Given the description of an element on the screen output the (x, y) to click on. 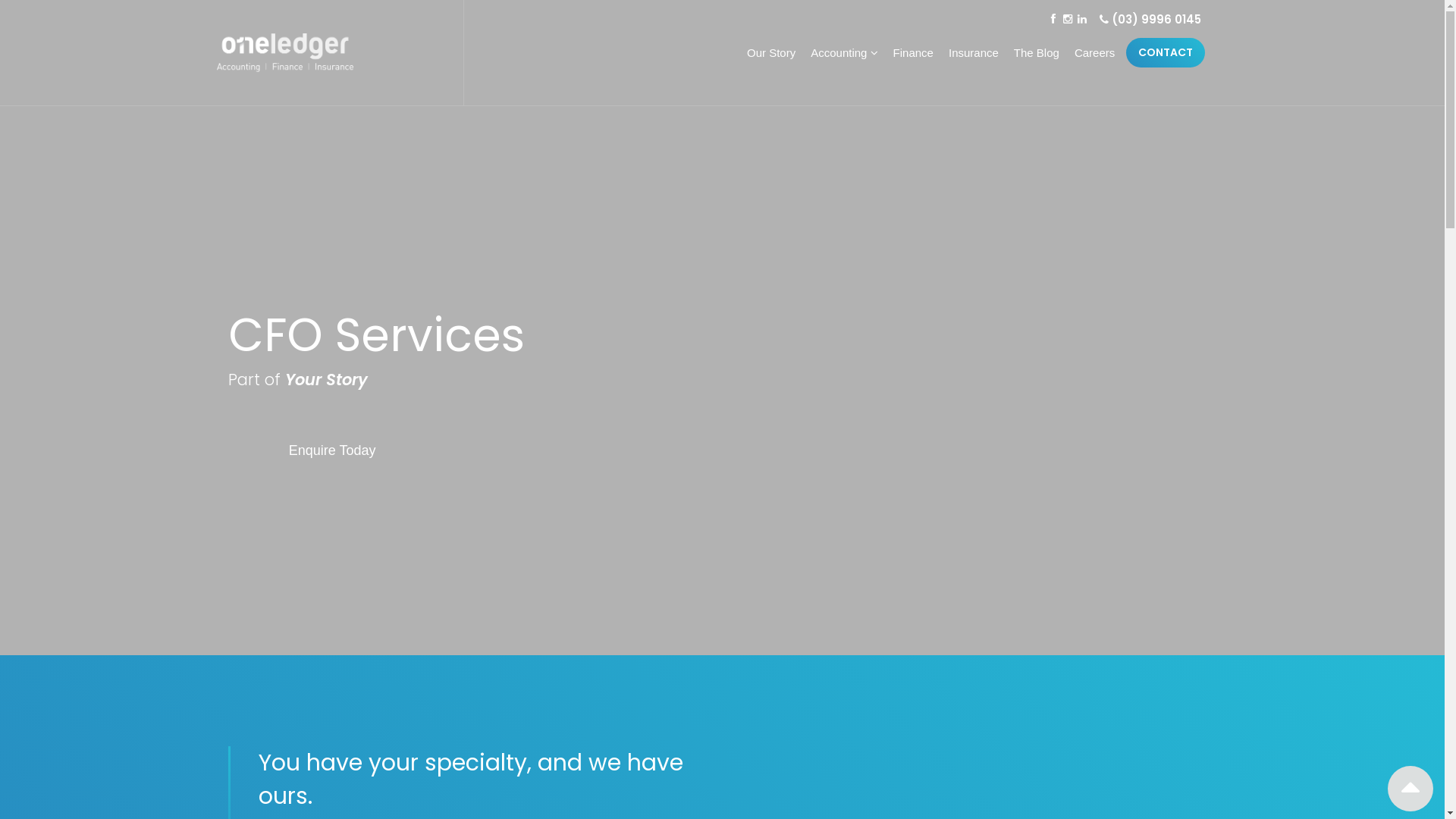
The Blog Element type: text (1032, 52)
Careers Element type: text (1090, 52)
Our Story Element type: text (767, 52)
Finance Element type: text (909, 52)
Enquire Today Element type: text (302, 447)
CONTACT Element type: text (1165, 52)
Accounting Element type: text (840, 52)
Insurance Element type: text (969, 52)
OneLedger Element type: hover (284, 52)
